Given the description of an element on the screen output the (x, y) to click on. 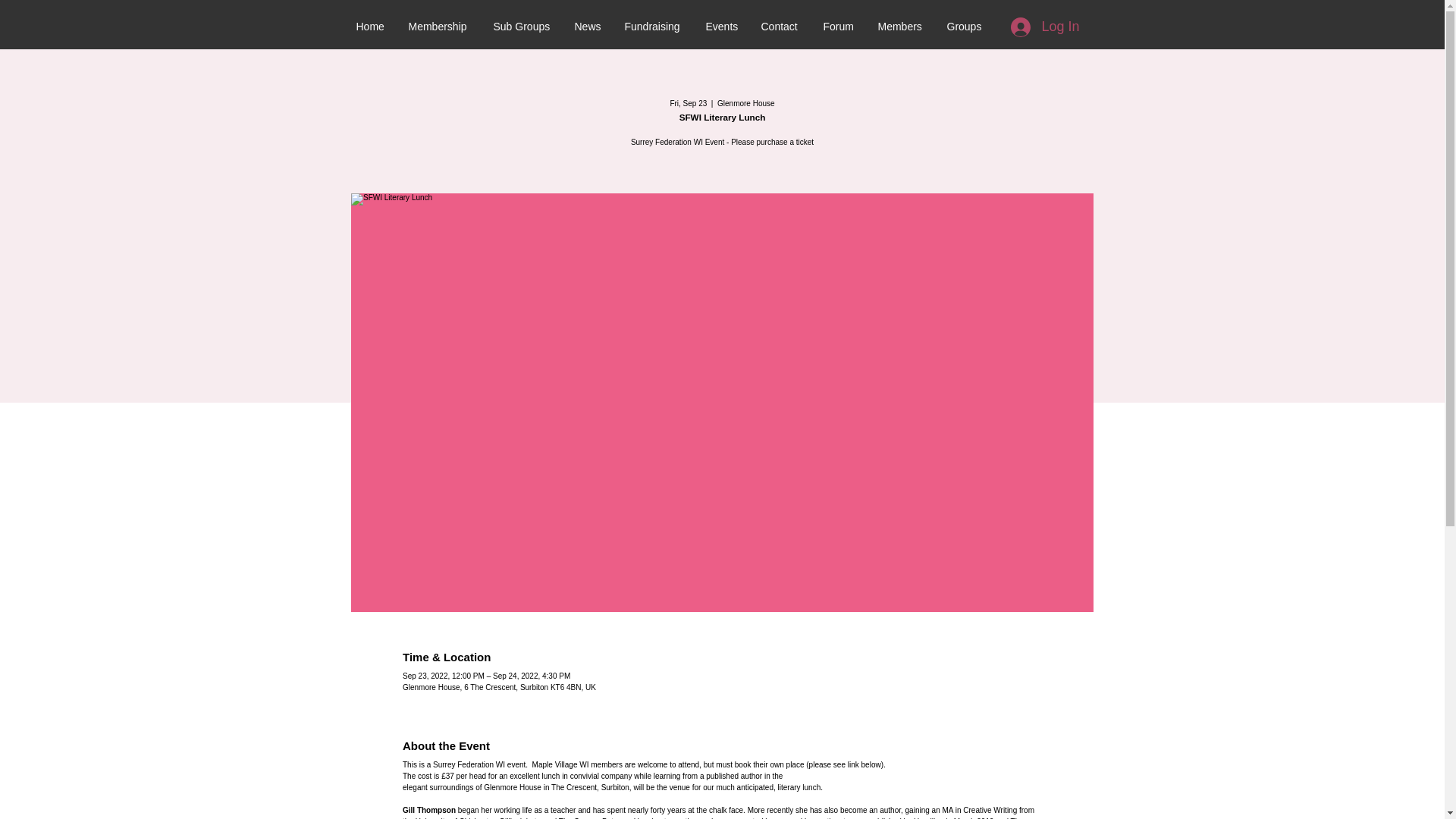
Log In (1044, 26)
Events (721, 26)
Membership (439, 26)
News (587, 26)
Groups (965, 26)
Contact (779, 26)
Sub Groups (522, 26)
Fundraising (653, 26)
Forum (838, 26)
Home (369, 26)
